Given the description of an element on the screen output the (x, y) to click on. 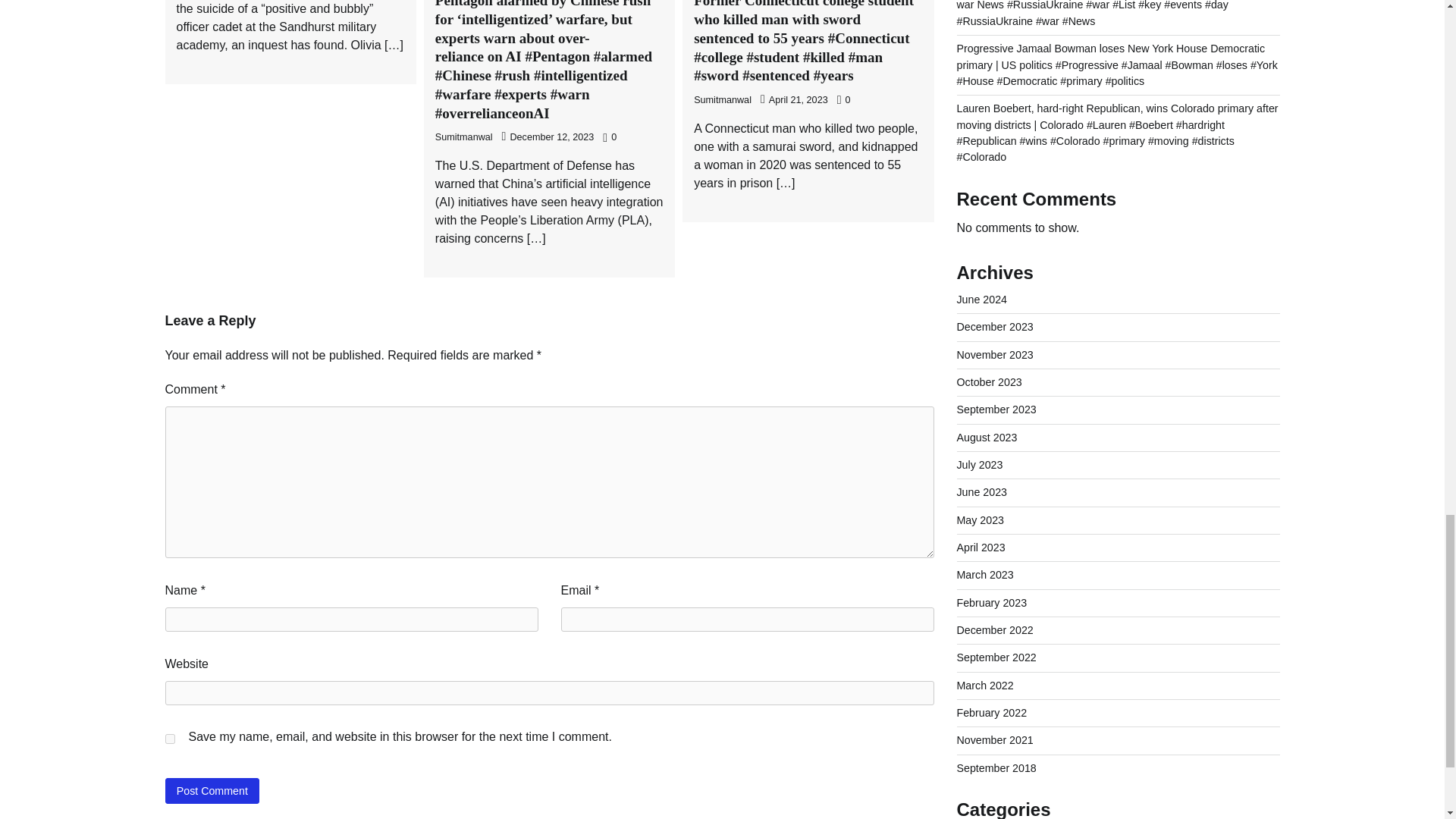
Post Comment (212, 790)
Sumitmanwal (722, 100)
Post Comment (212, 790)
Sumitmanwal (464, 136)
yes (169, 738)
